Given the description of an element on the screen output the (x, y) to click on. 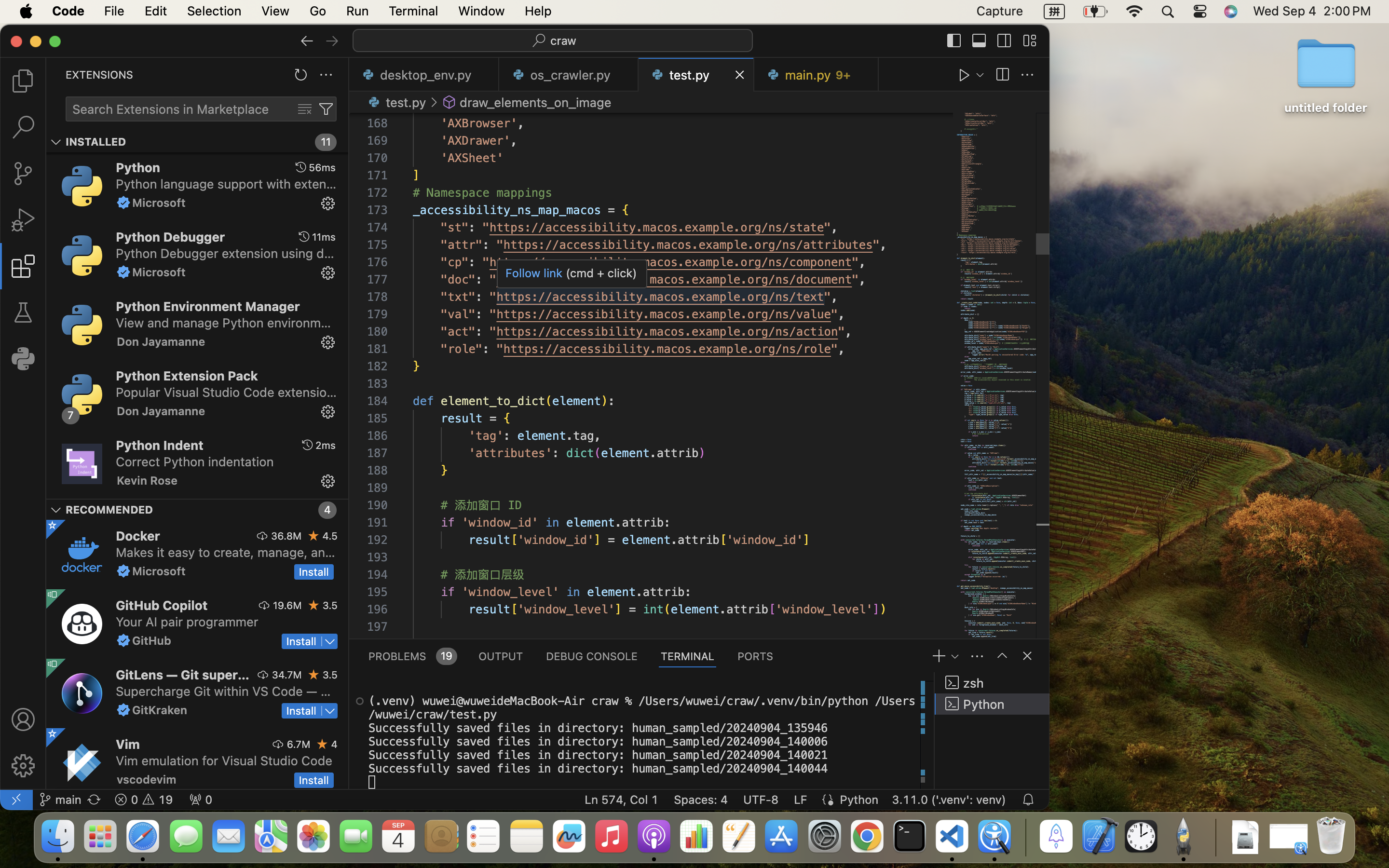
 Element type: AXCheckBox (1001, 655)
(cmd + click) Follow link Element type: AXGroup (571, 272)
draw_elements_on_image Element type: AXGroup (535, 101)
Python  Element type: AXGroup (991, 703)
6.7M Element type: AXStaticText (298, 743)
